Given the description of an element on the screen output the (x, y) to click on. 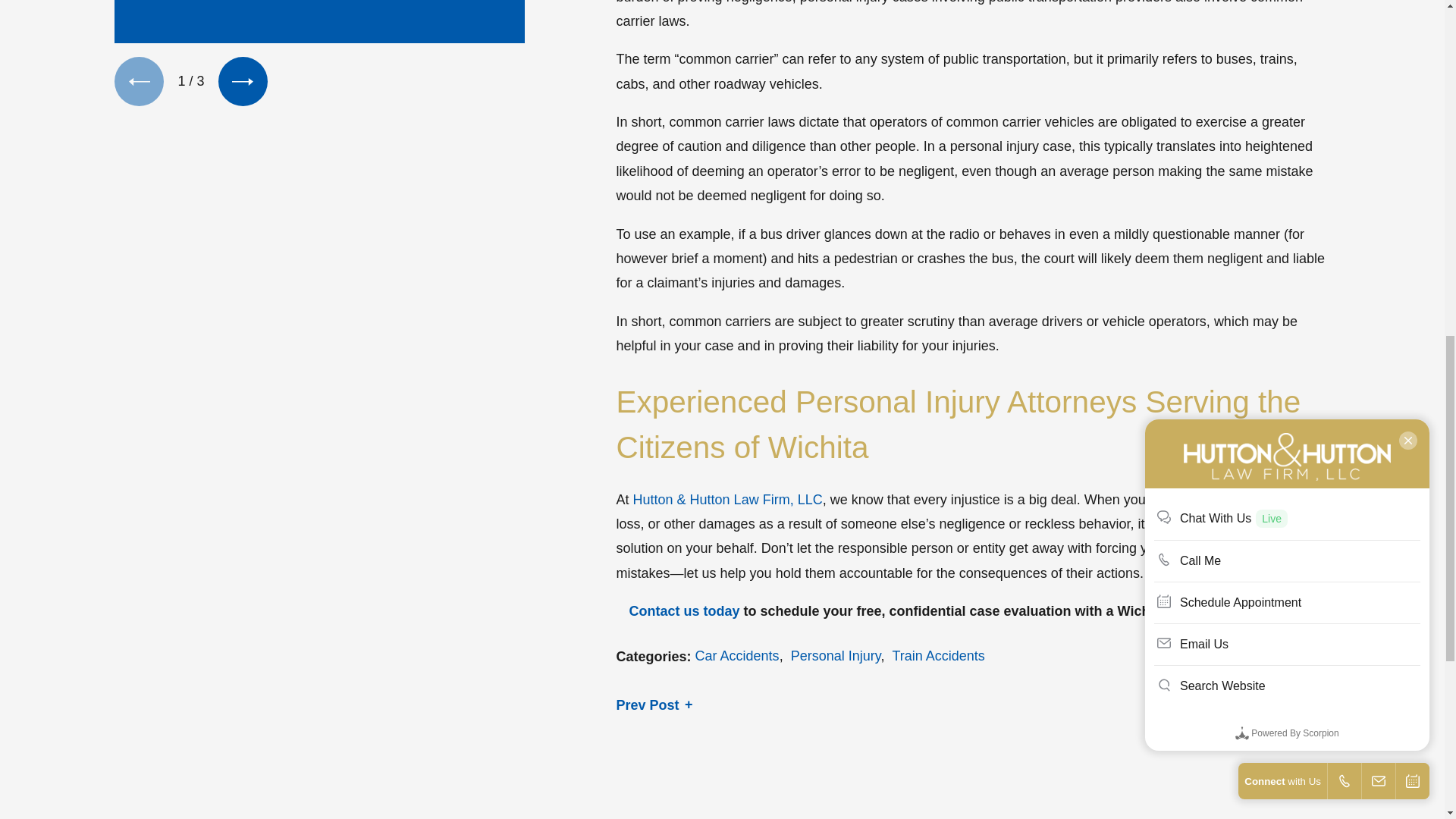
View previous item (139, 81)
View next item (242, 81)
